Given the description of an element on the screen output the (x, y) to click on. 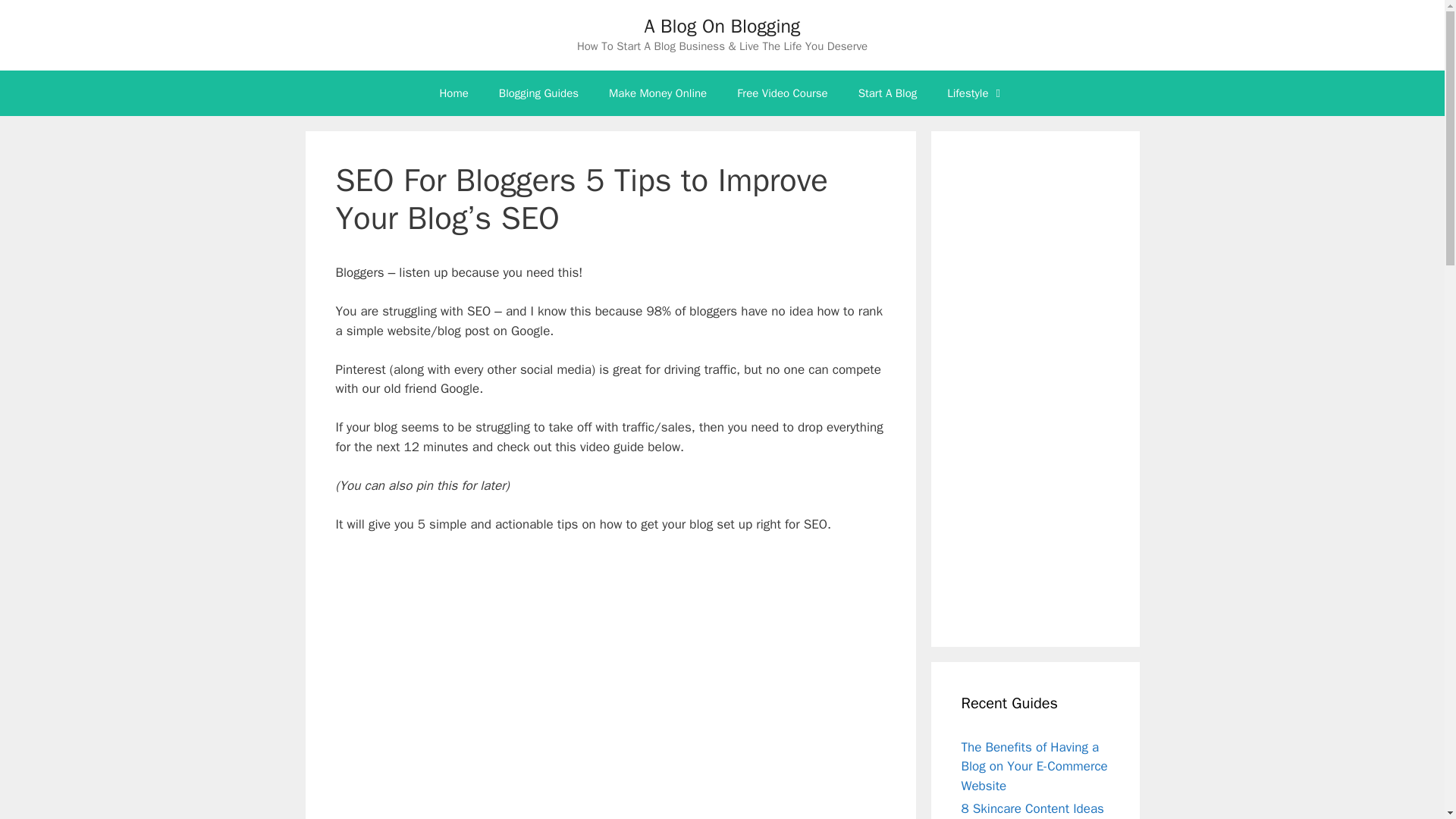
Make Money Online (658, 92)
Blogging Guides (538, 92)
Home (453, 92)
Lifestyle (975, 92)
Free Video Course (782, 92)
8 Skincare Content Ideas For Your Blog (1031, 809)
The Benefits of Having a Blog on Your E-Commerce Website (1034, 765)
A Blog On Blogging (722, 25)
Start A Blog (888, 92)
